Given the description of an element on the screen output the (x, y) to click on. 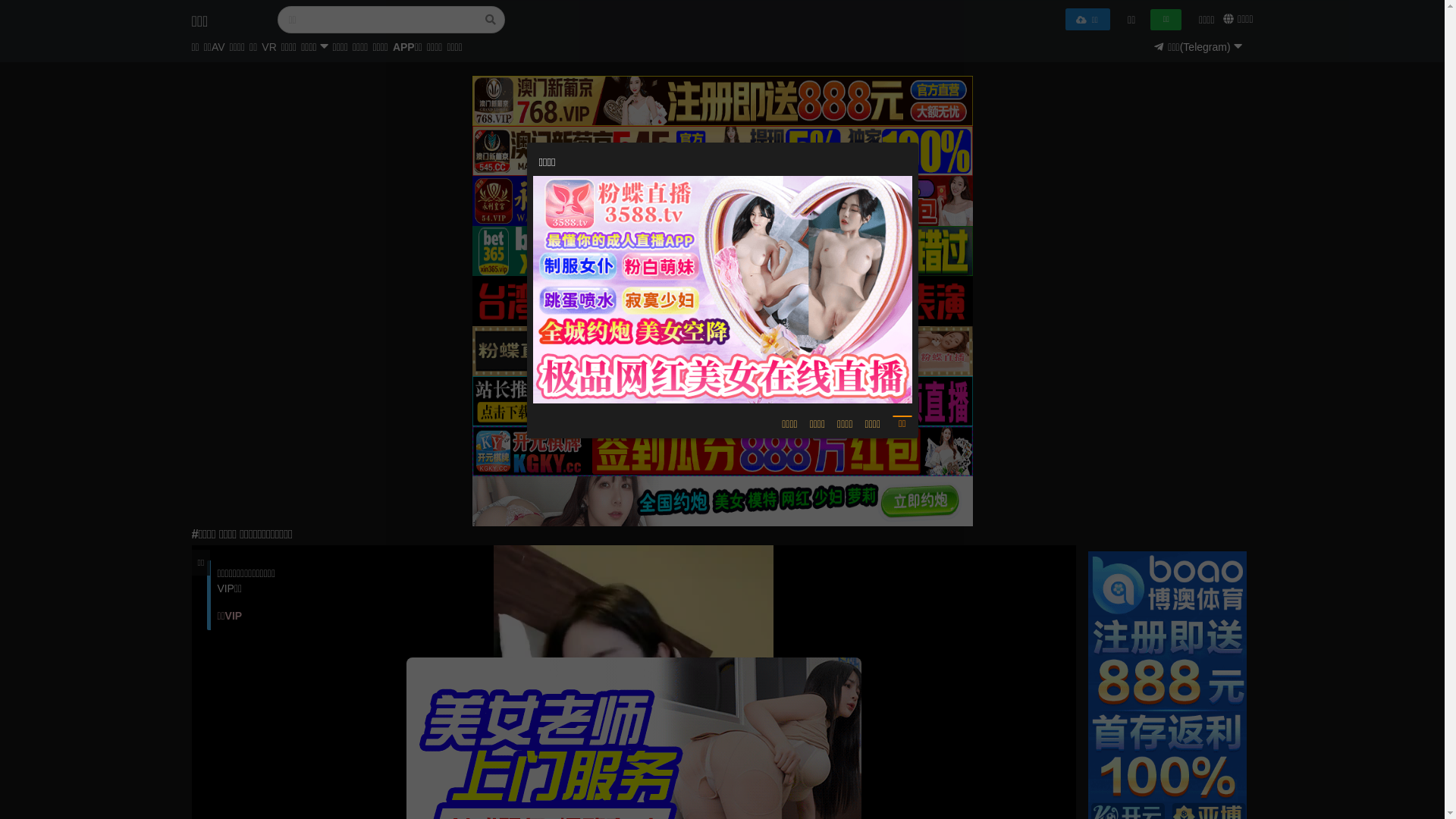
VR Element type: text (268, 49)
https://kedouwo20.xyz Element type: text (722, 341)
https://kedouwo26.xyz Element type: text (722, 298)
https://kedouwo25.xyz Element type: text (722, 319)
https://kedouwo27.xyz Element type: text (722, 277)
